Given the description of an element on the screen output the (x, y) to click on. 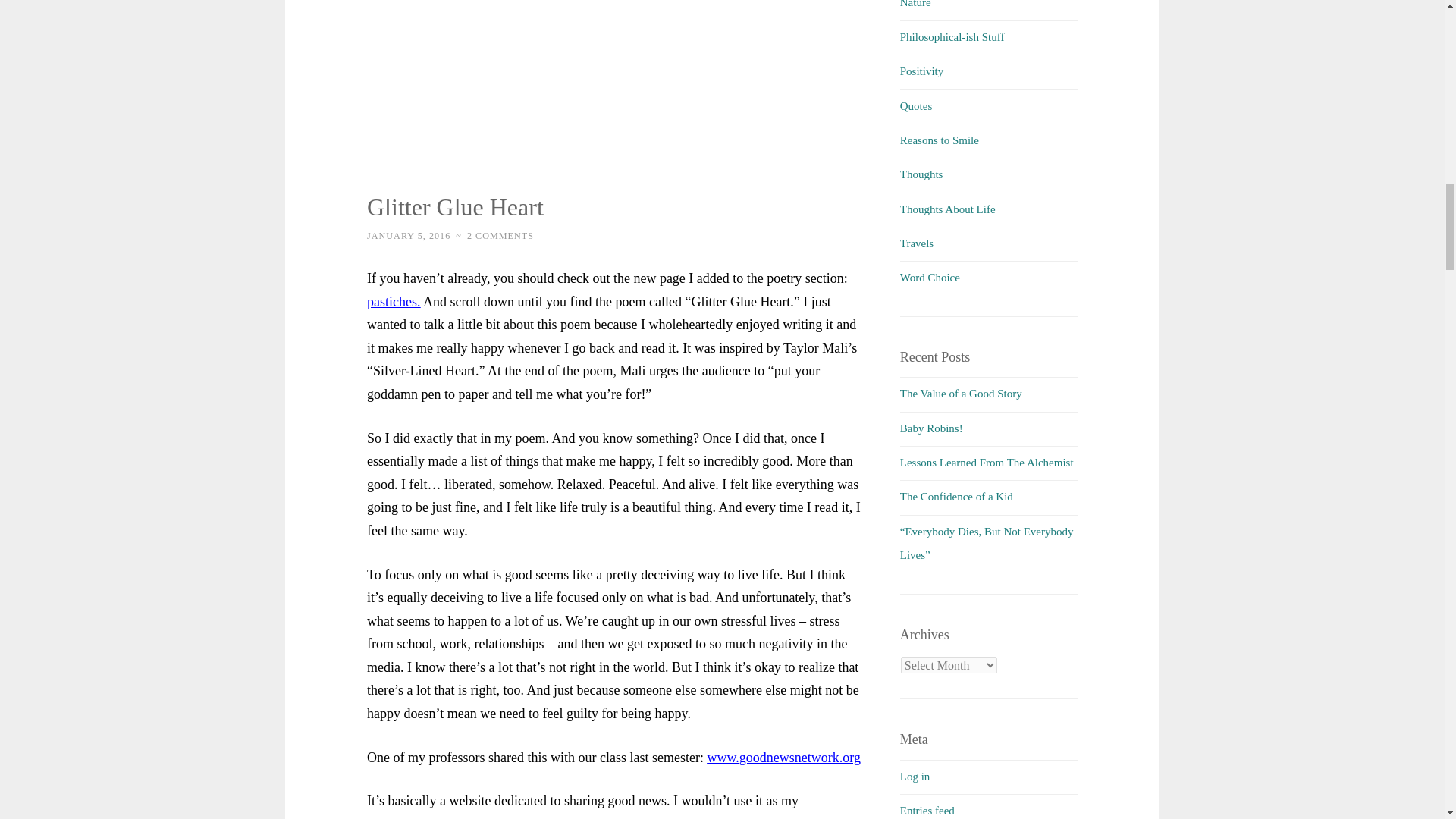
2 COMMENTS (500, 235)
Glitter Glue Heart (454, 206)
www.goodnewsnetwork.org (783, 757)
pastiches. (393, 301)
JANUARY 5, 2016 (407, 235)
